Given the description of an element on the screen output the (x, y) to click on. 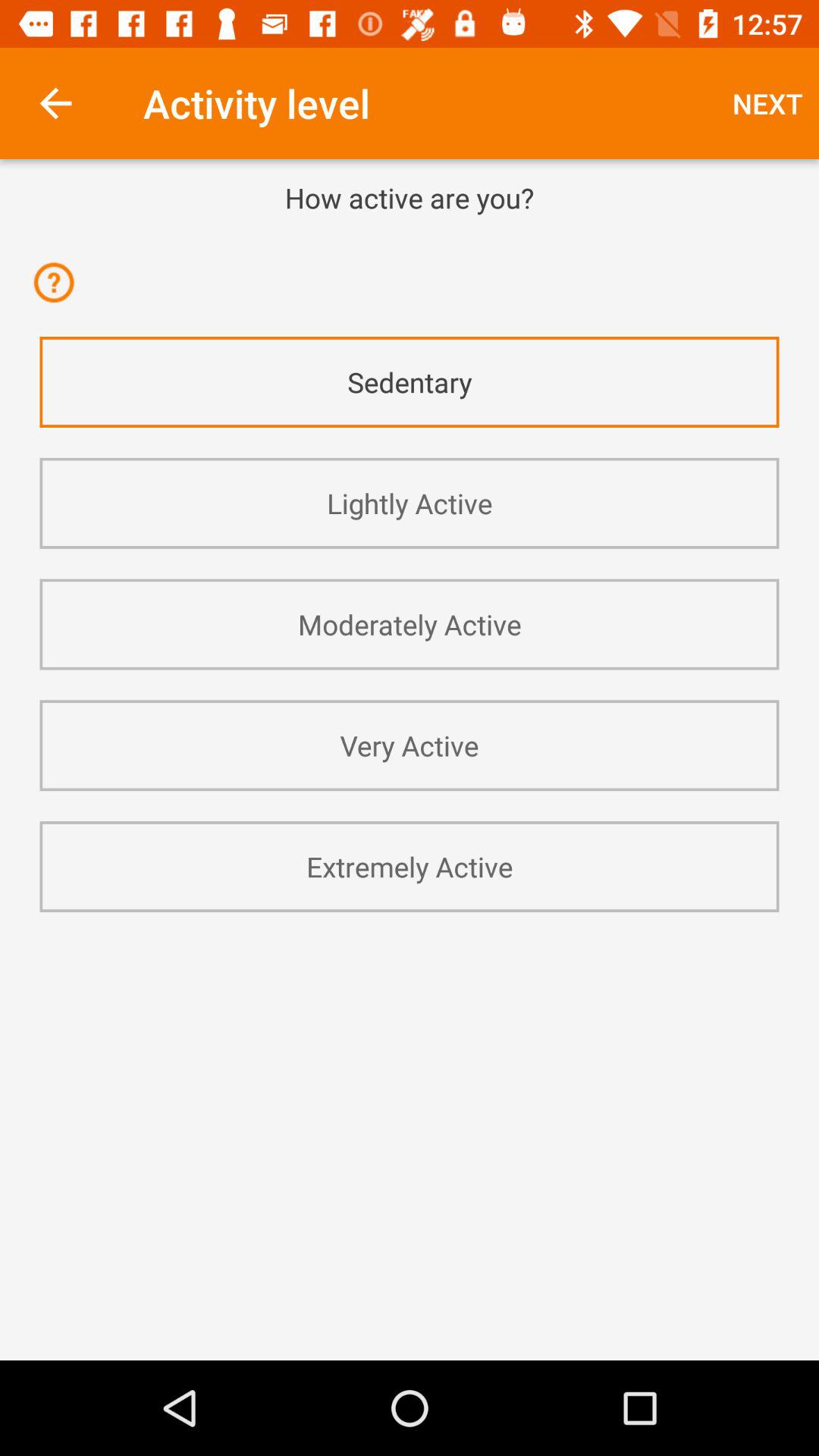
press icon above lightly active app (409, 381)
